Given the description of an element on the screen output the (x, y) to click on. 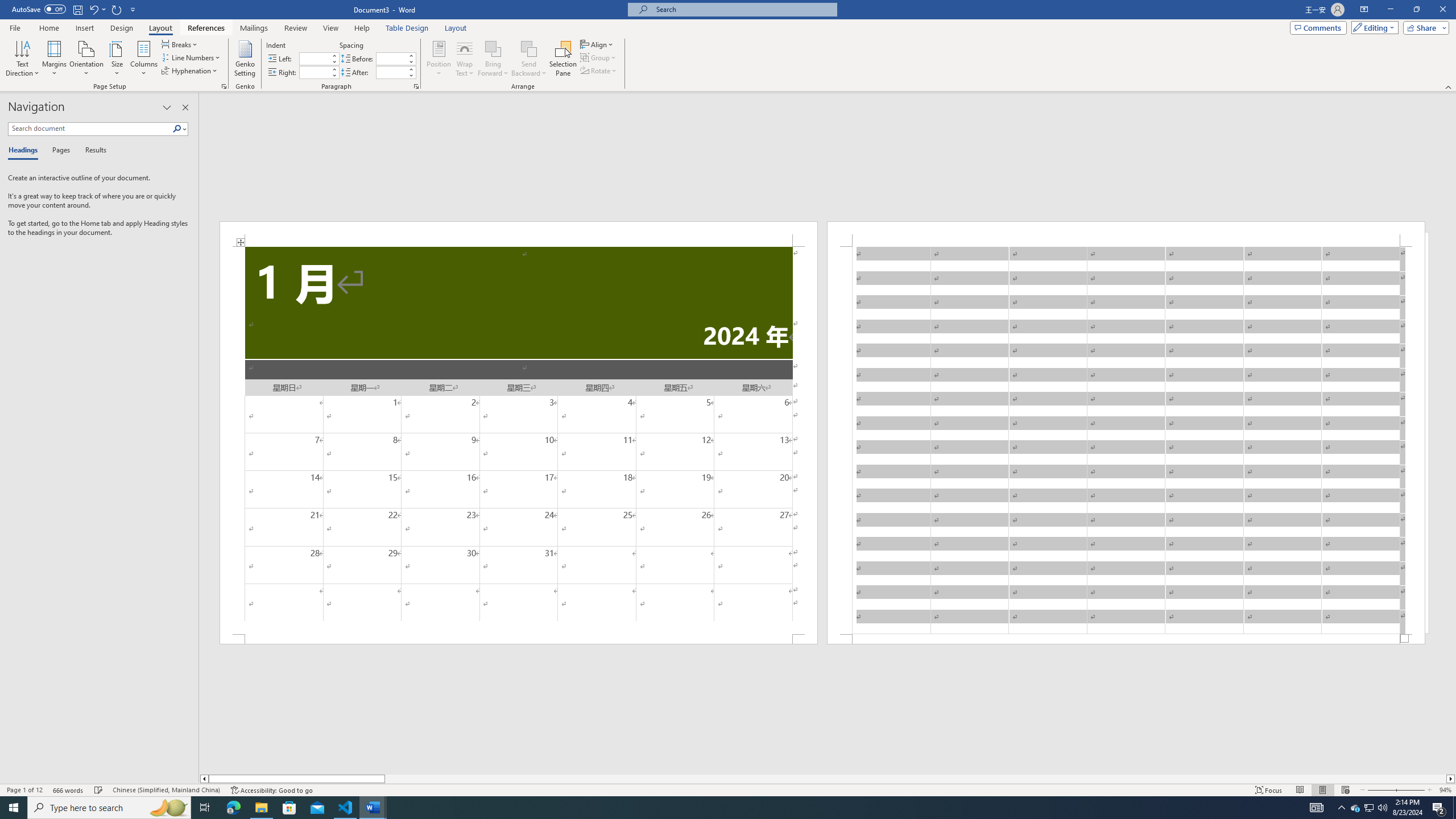
Page 2 content (1126, 439)
Indent Left (314, 58)
Help (361, 28)
References (205, 28)
Class: MsoCommandBar (728, 789)
Send Backward (528, 58)
Class: NetUIScrollBar (827, 778)
Minimize (1390, 9)
Undo Insert Row Below (96, 9)
Column left (203, 778)
Rotate (599, 69)
Indent Right (314, 72)
Web Layout (1344, 790)
Results (91, 150)
Zoom Out (1380, 790)
